Given the description of an element on the screen output the (x, y) to click on. 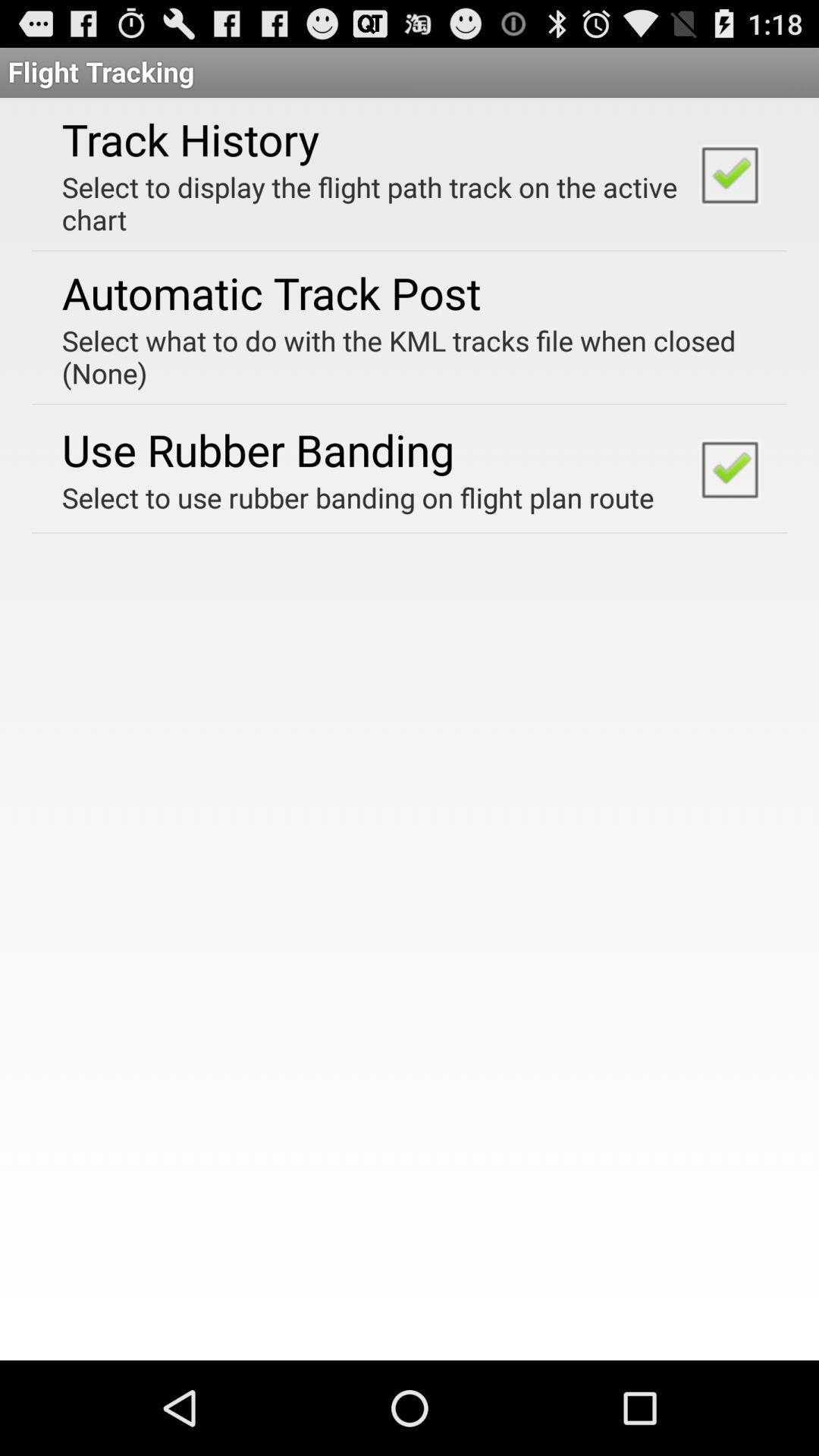
open the automatic track post icon (271, 292)
